Given the description of an element on the screen output the (x, y) to click on. 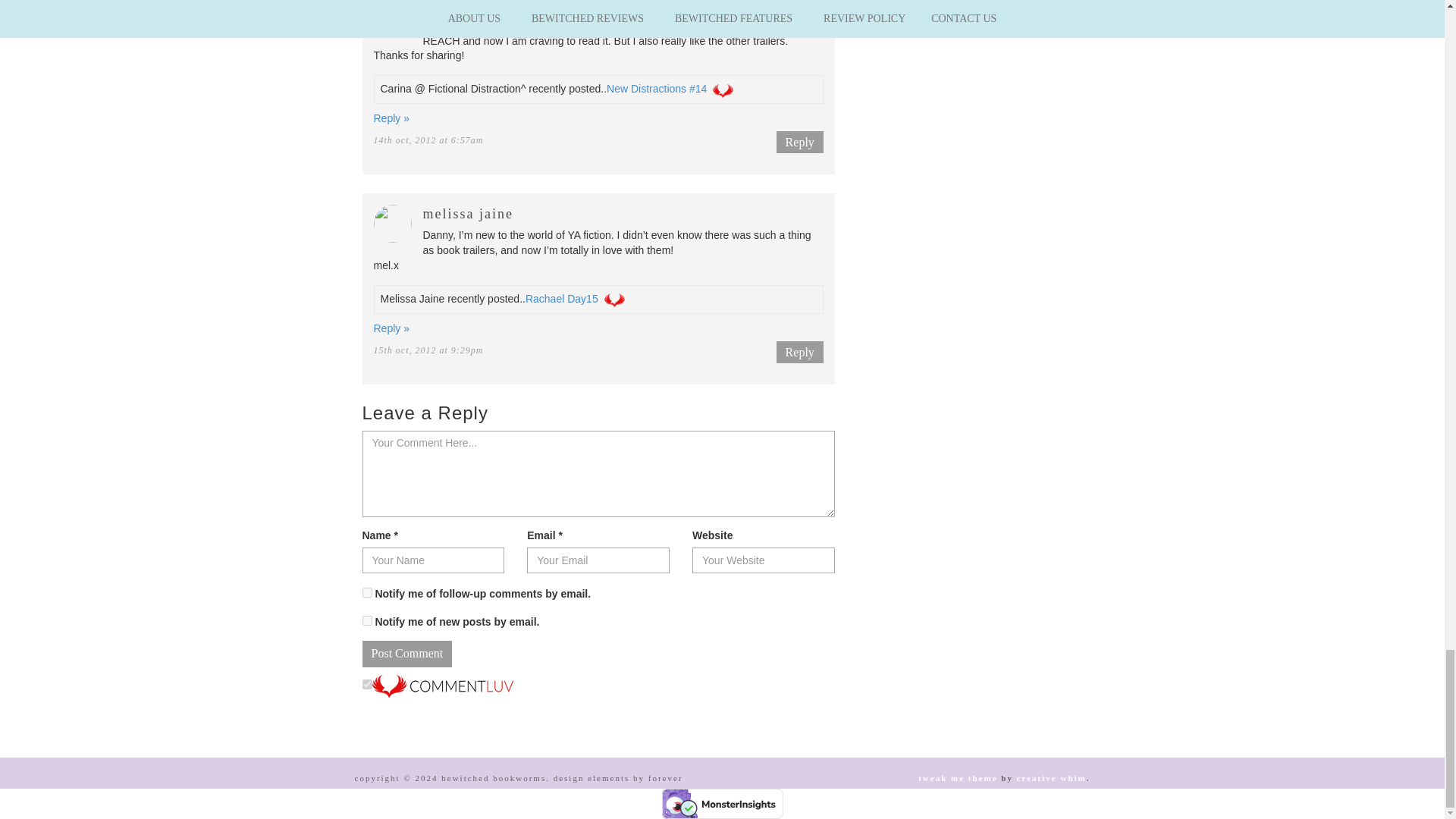
subscribe (367, 620)
subscribe (367, 592)
on (367, 684)
Post Comment (407, 653)
